Given the description of an element on the screen output the (x, y) to click on. 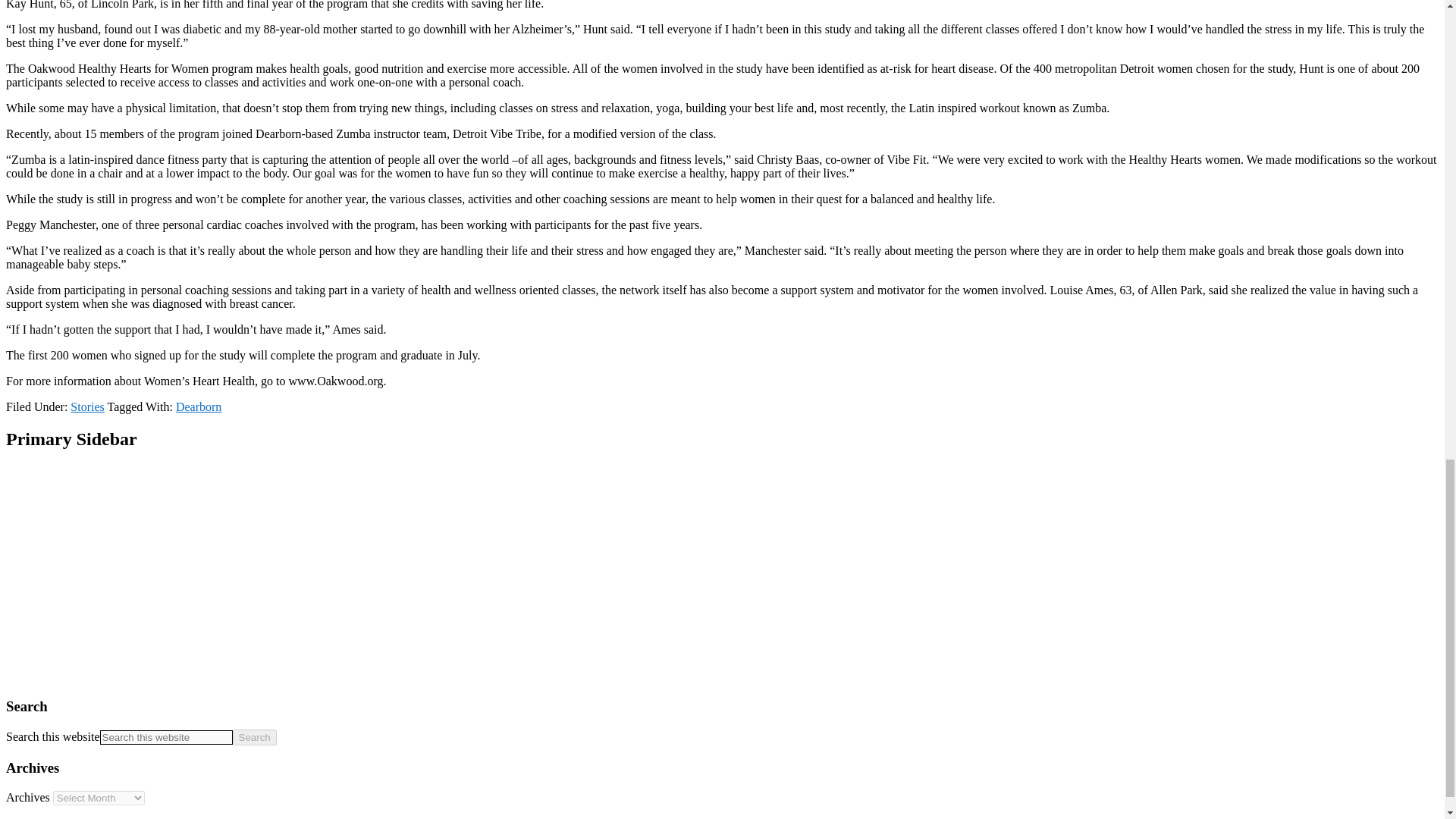
Stories (86, 406)
Search (254, 737)
Search (254, 737)
Dearborn (198, 406)
Search (254, 737)
